Given the description of an element on the screen output the (x, y) to click on. 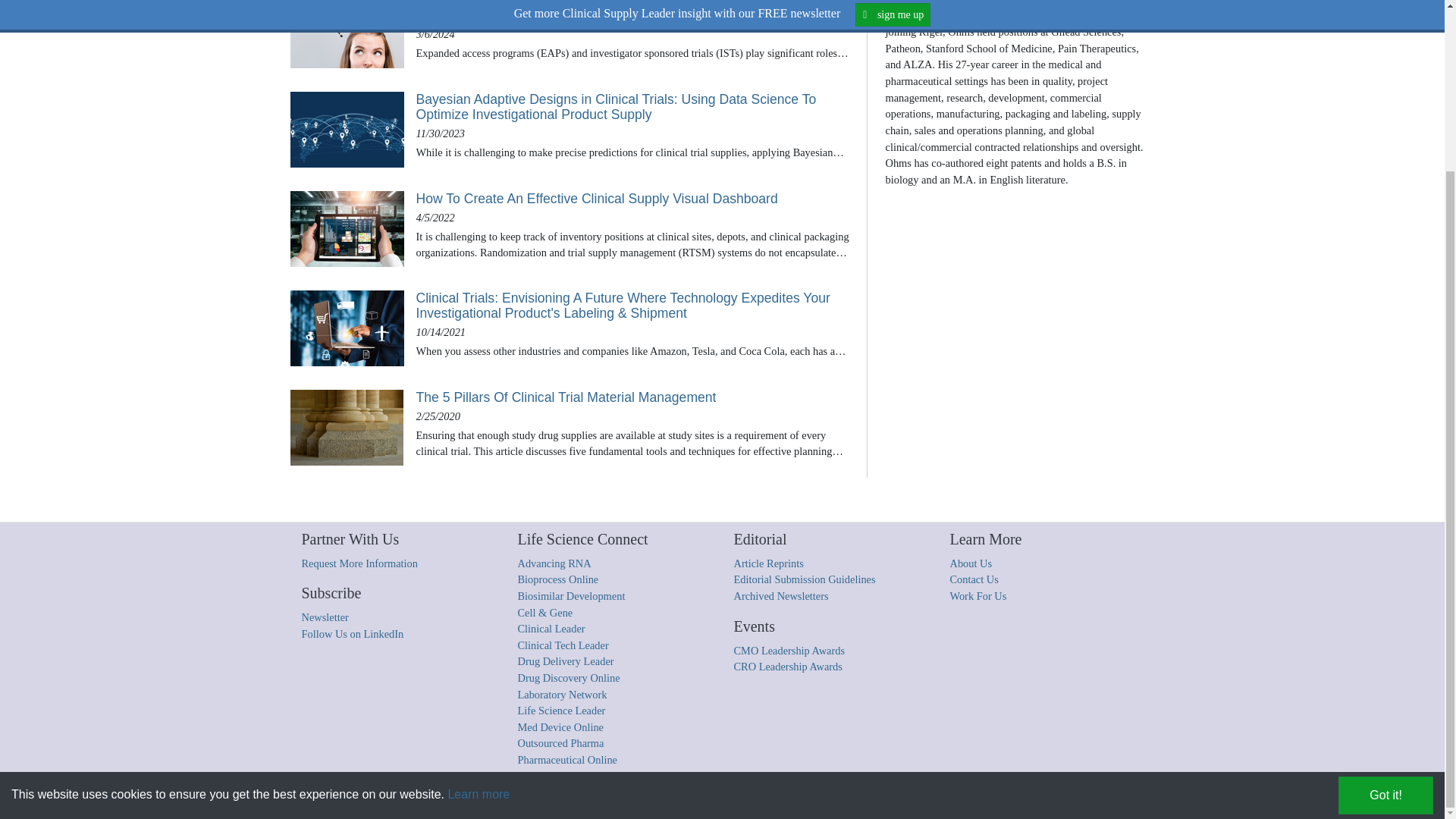
How To Create An Effective Clinical Supply Visual Dashboard (634, 198)
The 5 Pillars Of Clinical Trial Material Management (346, 427)
Life Science Leader (560, 710)
Outsourced Pharma (560, 743)
Request More Information (359, 563)
Pharmaceutical Online (565, 759)
The 5 Pillars Of Clinical Trial Material Management (634, 396)
Christopher Ohms (914, 11)
